Given the description of an element on the screen output the (x, y) to click on. 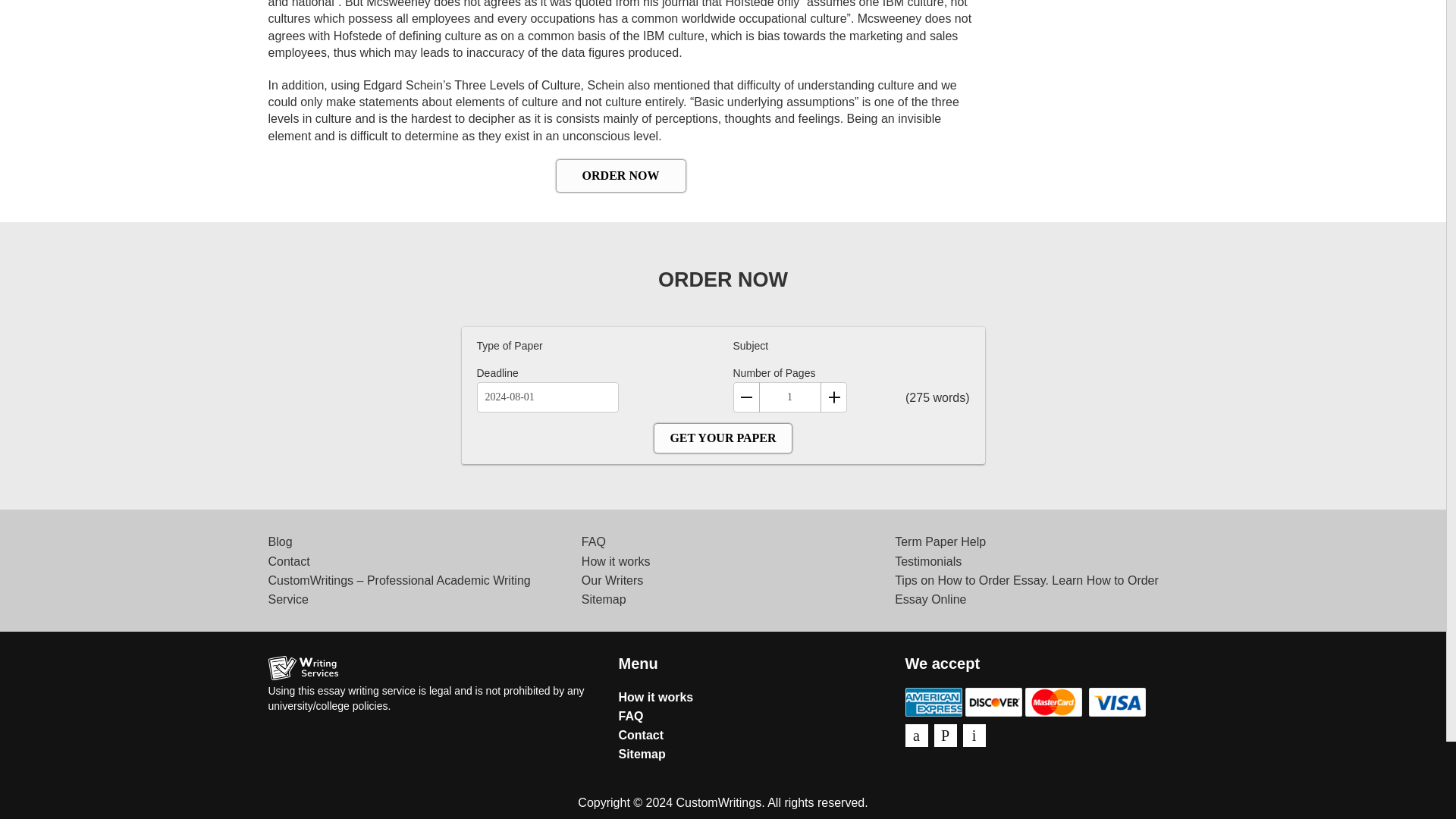
1 (788, 397)
FAQ (630, 716)
Our Writers (611, 580)
Tips on How to Order Essay. Learn How to Order Essay Online (1026, 590)
Get your paper (721, 438)
ORDER NOW (620, 175)
Testimonials (927, 561)
2024-08-01 (546, 397)
Contact (288, 561)
How it works (656, 697)
FAQ (592, 541)
Get your paper (721, 438)
Blog (279, 541)
Term Paper Help (940, 541)
How it works (615, 561)
